Given the description of an element on the screen output the (x, y) to click on. 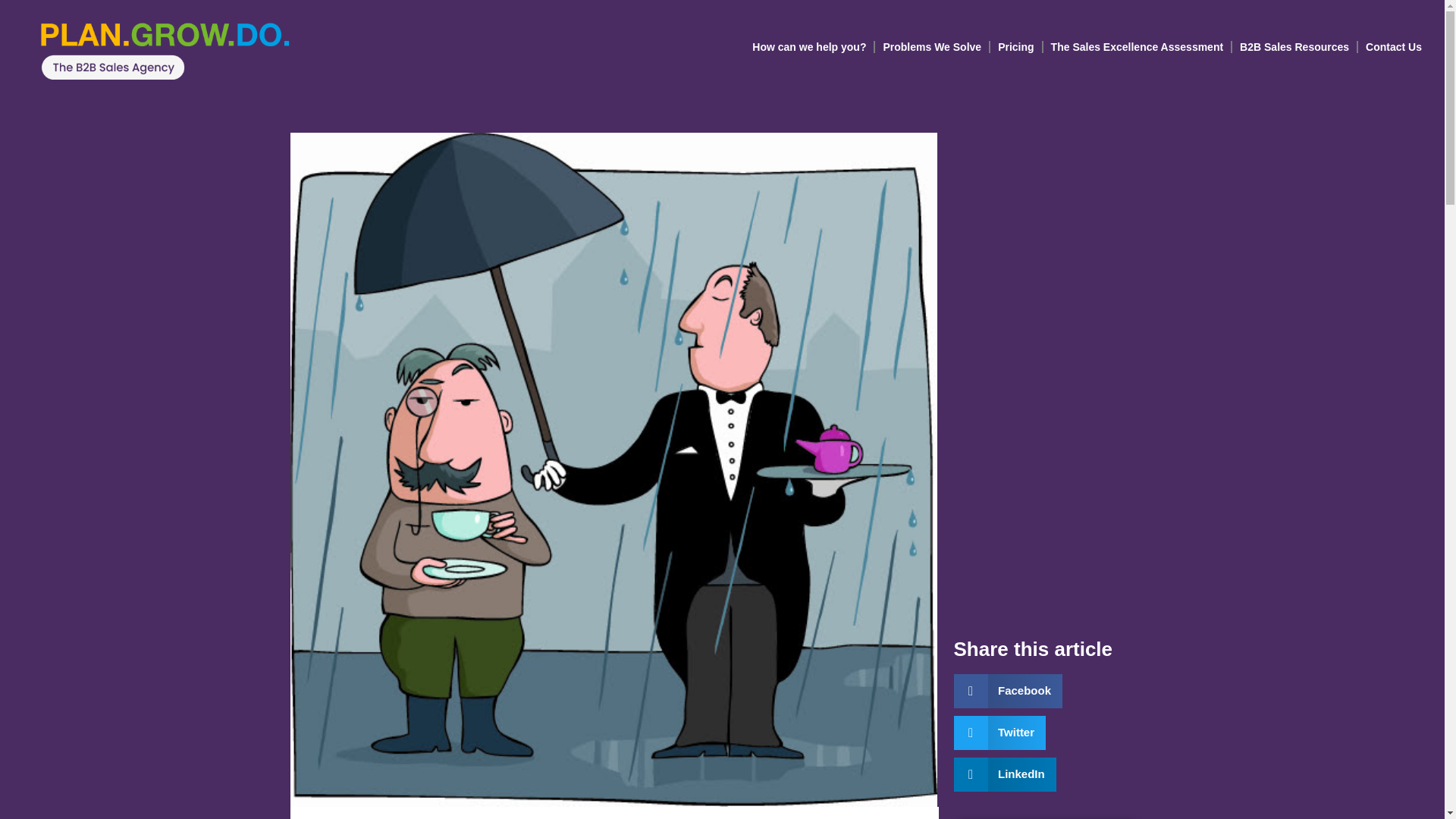
The Sales Excellence Assessment (1137, 46)
B2B Sales Resources (1293, 46)
Problems We Solve (931, 46)
Pricing (1015, 46)
How can we help you? (808, 46)
